Given the description of an element on the screen output the (x, y) to click on. 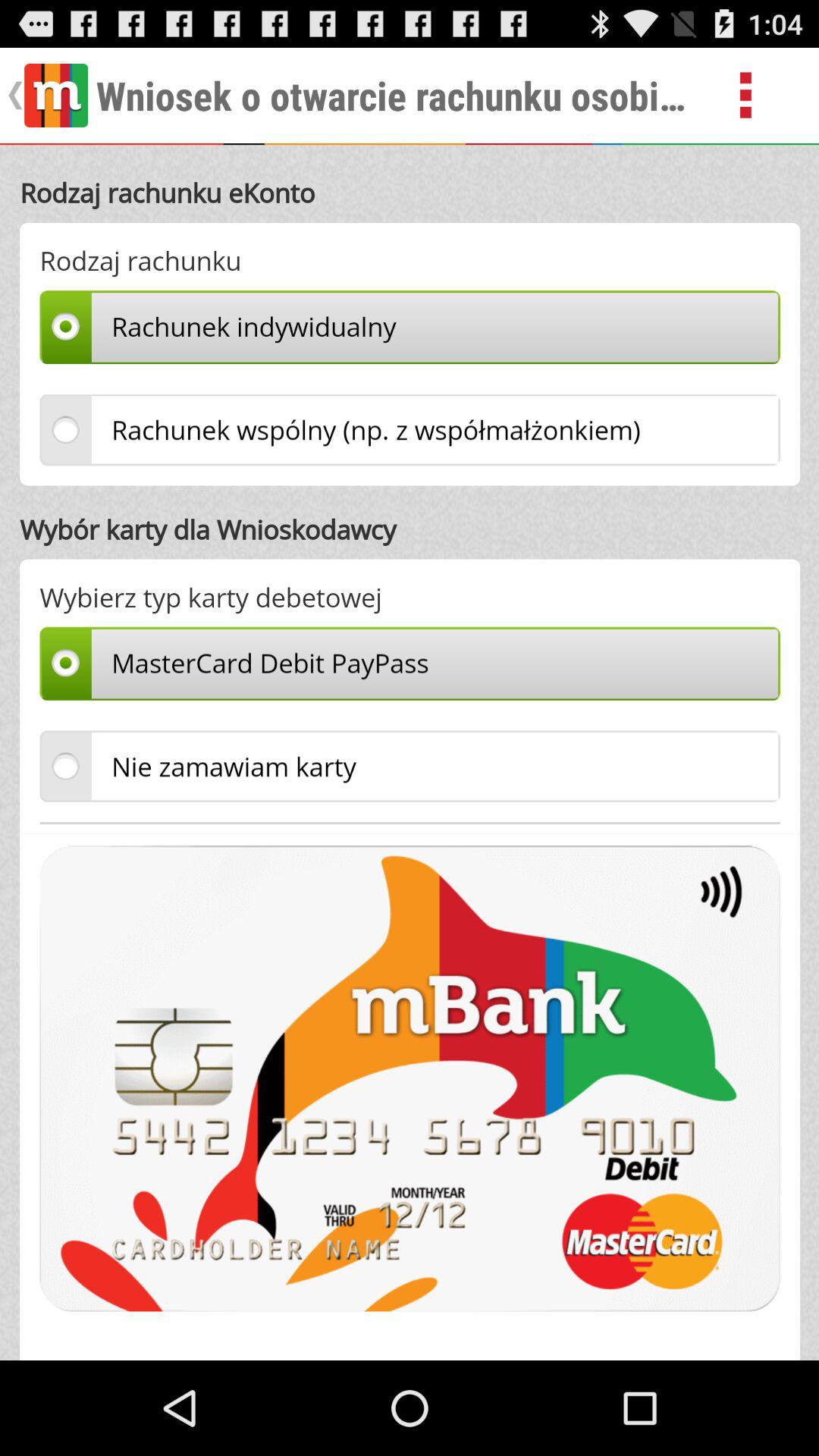
go to options (763, 95)
